Given the description of an element on the screen output the (x, y) to click on. 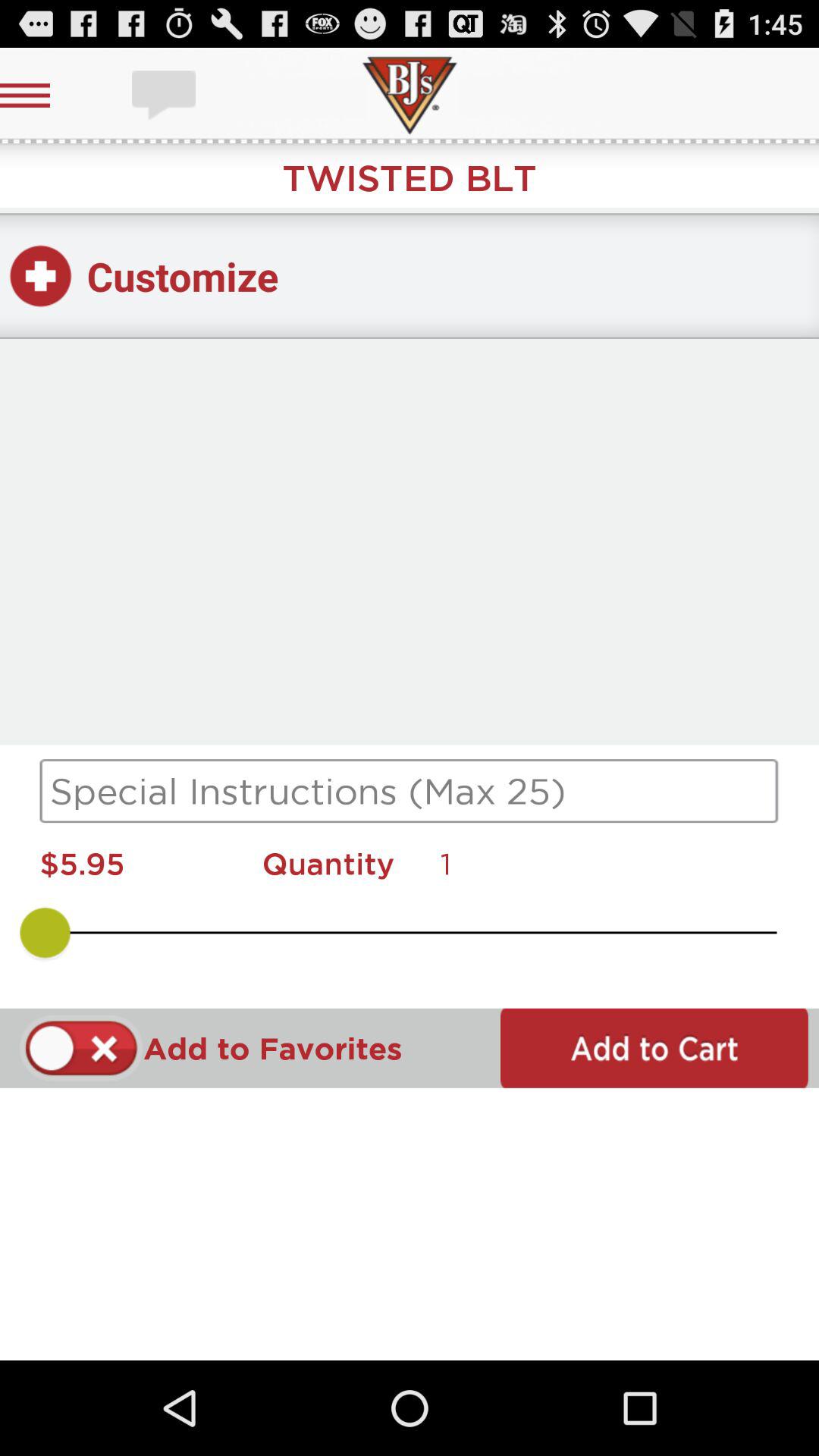
add remove (81, 1048)
